Given the description of an element on the screen output the (x, y) to click on. 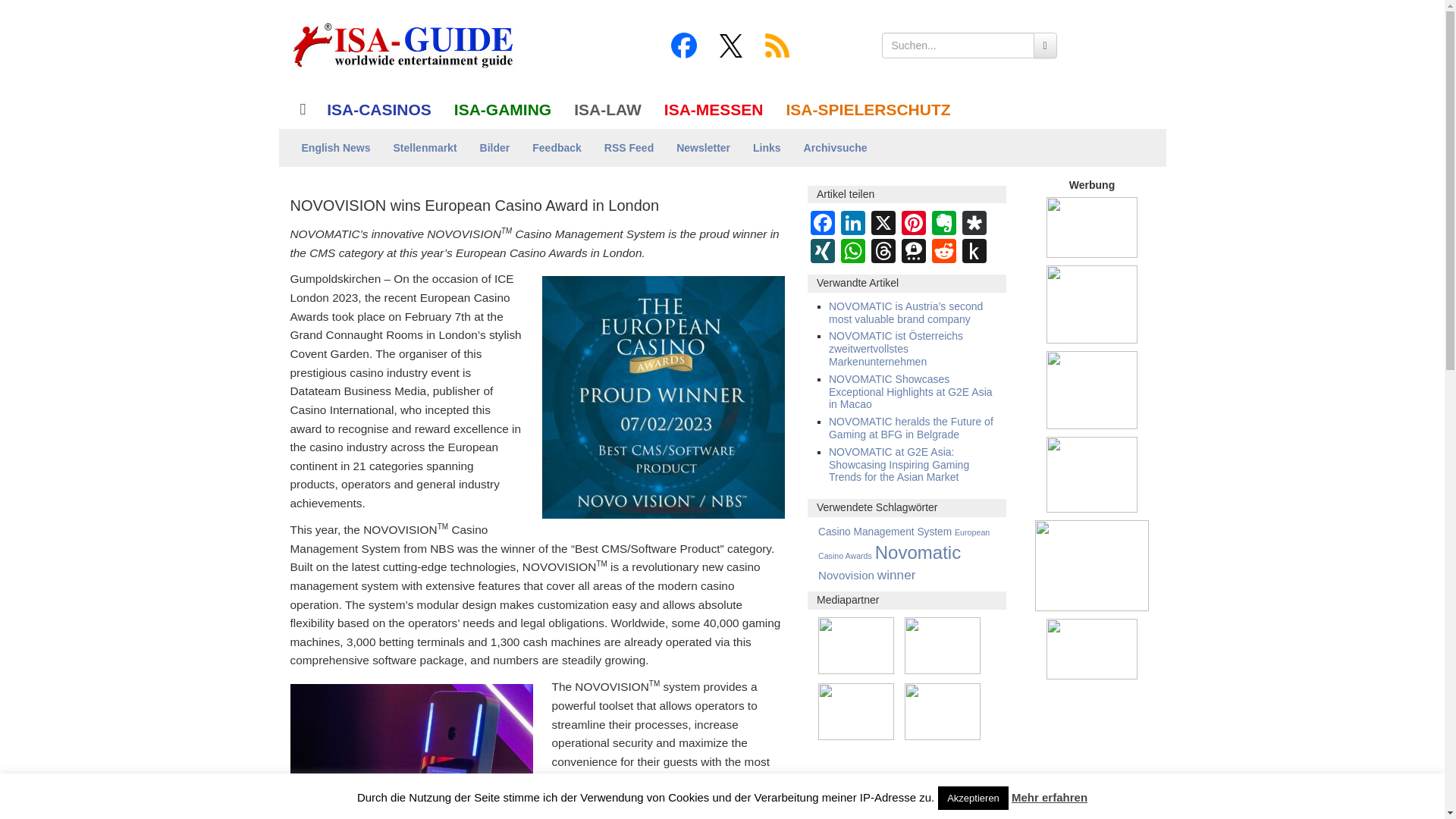
Evernote (943, 224)
RSS Feed (628, 147)
Feedback (556, 147)
Bilder (494, 147)
Stellenmarkt (424, 147)
X (882, 224)
Newsletter (703, 147)
LinkedIn (852, 224)
Facebook (823, 224)
English News (335, 147)
ISA-CASINOS (378, 109)
Archivsuche (835, 147)
ISA-GAMING (502, 109)
ISA-MESSEN (713, 109)
X (882, 224)
